Given the description of an element on the screen output the (x, y) to click on. 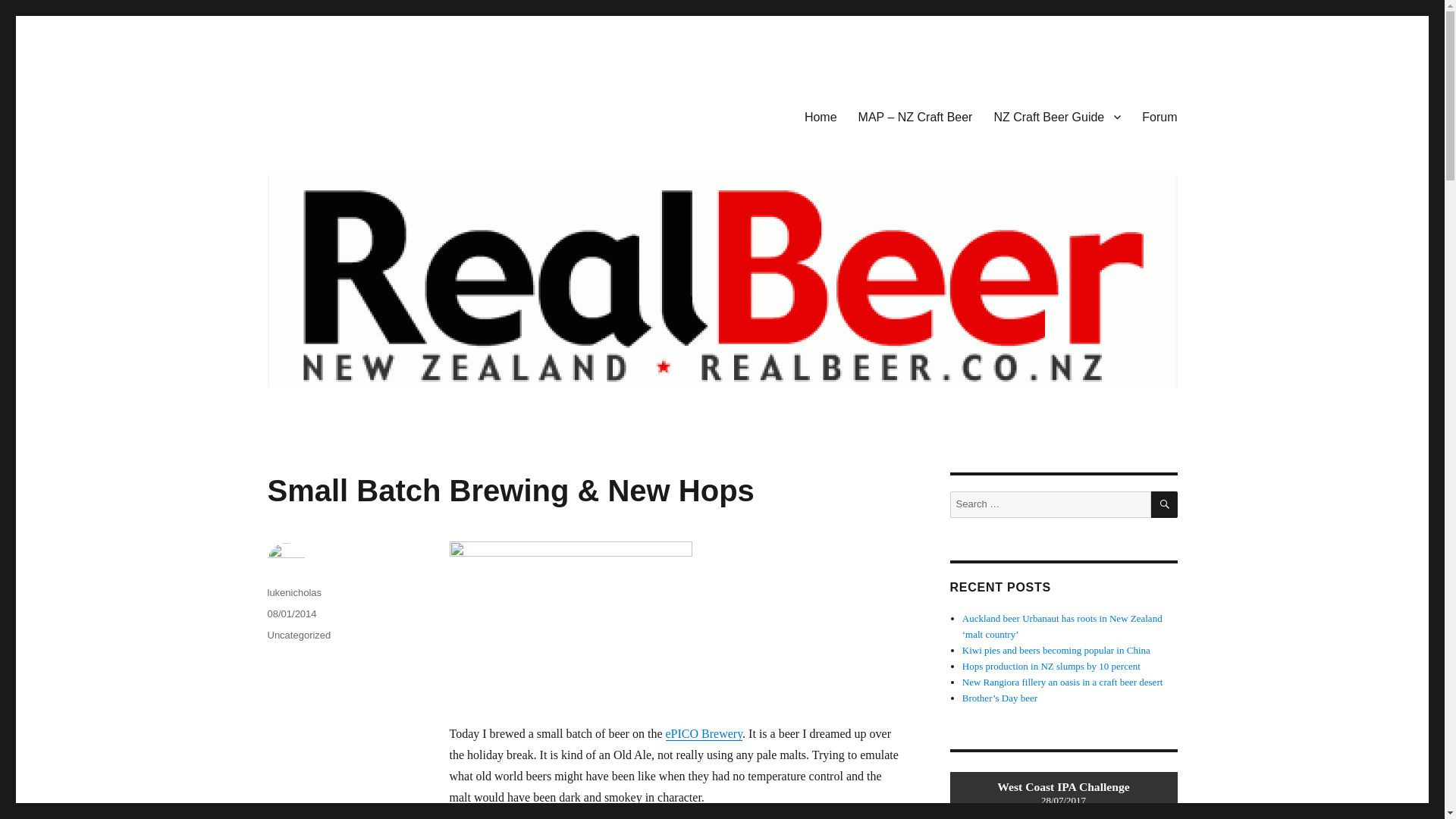
SEARCH (1164, 504)
ePICO Brewery (703, 733)
Home (820, 116)
Forum (1159, 116)
Uncategorized (298, 634)
lukenicholas (293, 592)
RealBeer.co.nz (341, 114)
NZ Craft Beer Guide (1056, 116)
Kiwi pies and beers becoming popular in China (1056, 650)
New Rangiora fillery an oasis in a craft beer desert (1062, 681)
Hops production in NZ slumps by 10 percent (1051, 665)
